Given the description of an element on the screen output the (x, y) to click on. 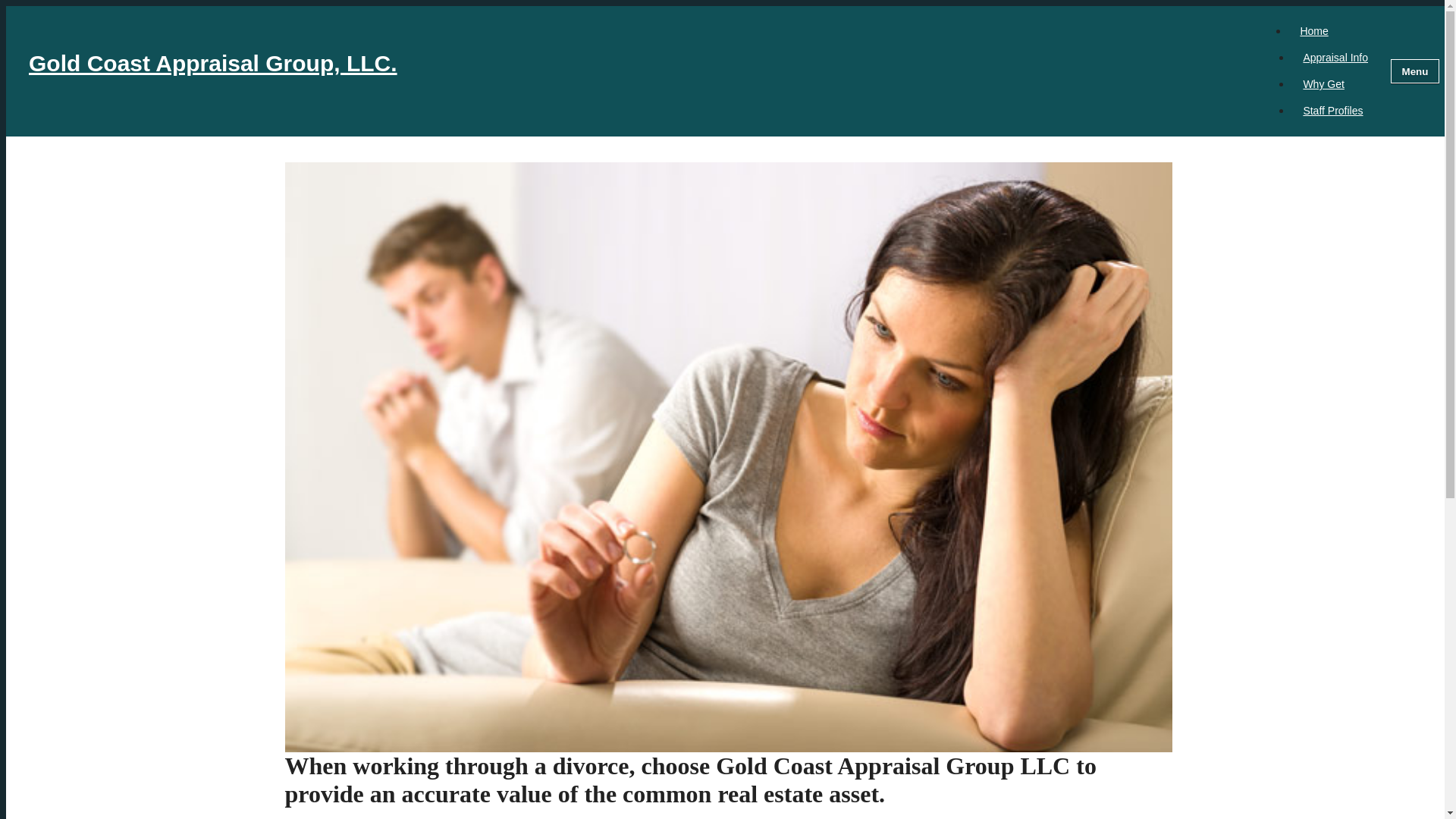
Menu (1414, 70)
Gold Coast Appraisal Group, LLC. (643, 71)
Appraisal Info (1334, 57)
Home (1313, 31)
Why Get (1323, 84)
Staff Profiles (1332, 110)
